Given the description of an element on the screen output the (x, y) to click on. 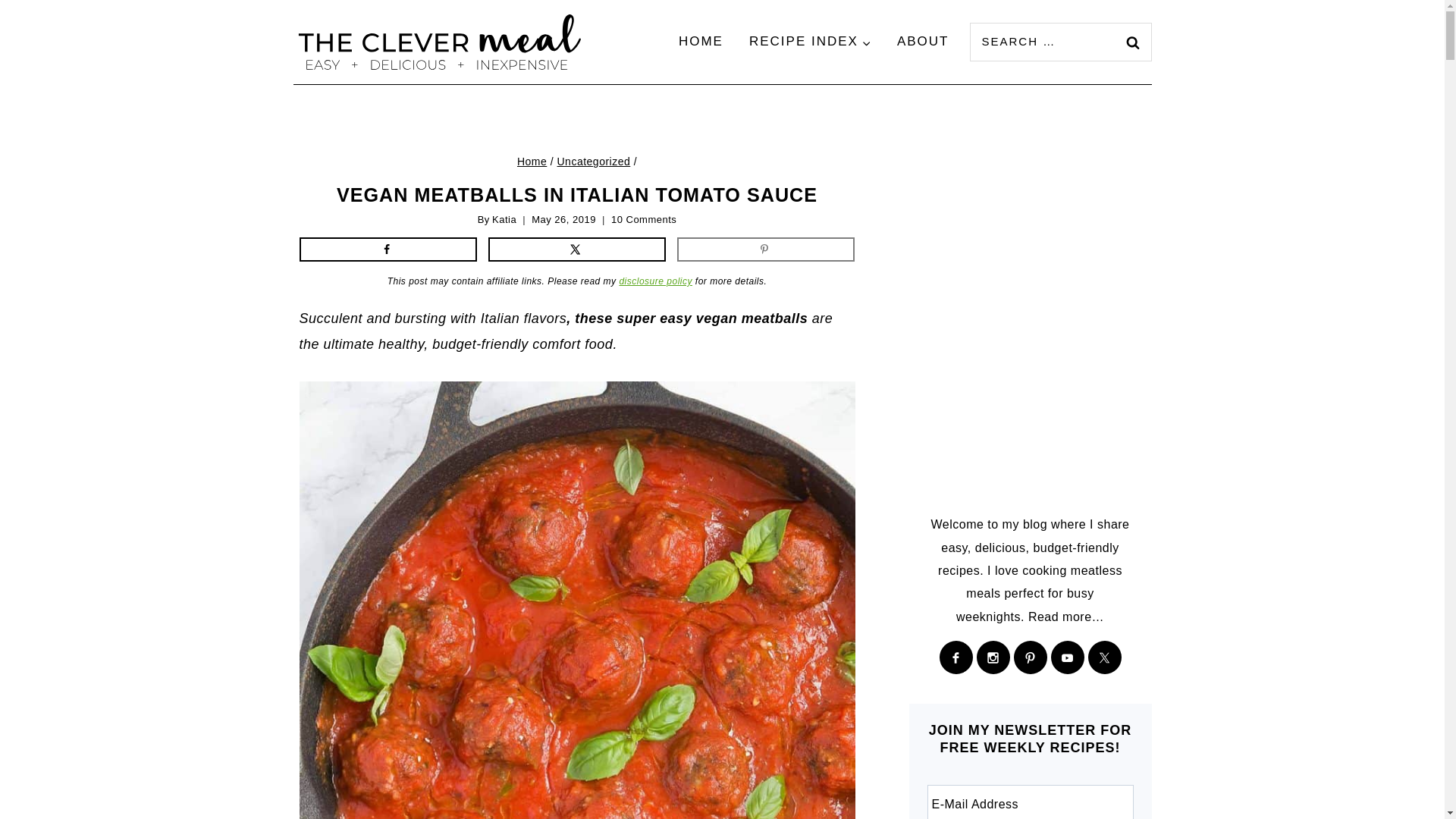
Uncategorized (593, 161)
ABOUT (922, 42)
10 Comments (644, 220)
10 Comments (644, 220)
Save to Pinterest (766, 249)
Share on Facebook (387, 249)
Search (1132, 41)
Katia (504, 219)
RECIPE INDEX (809, 42)
Home (531, 161)
Share on X (576, 249)
HOME (700, 42)
Search (1132, 41)
Search (1132, 41)
